Given the description of an element on the screen output the (x, y) to click on. 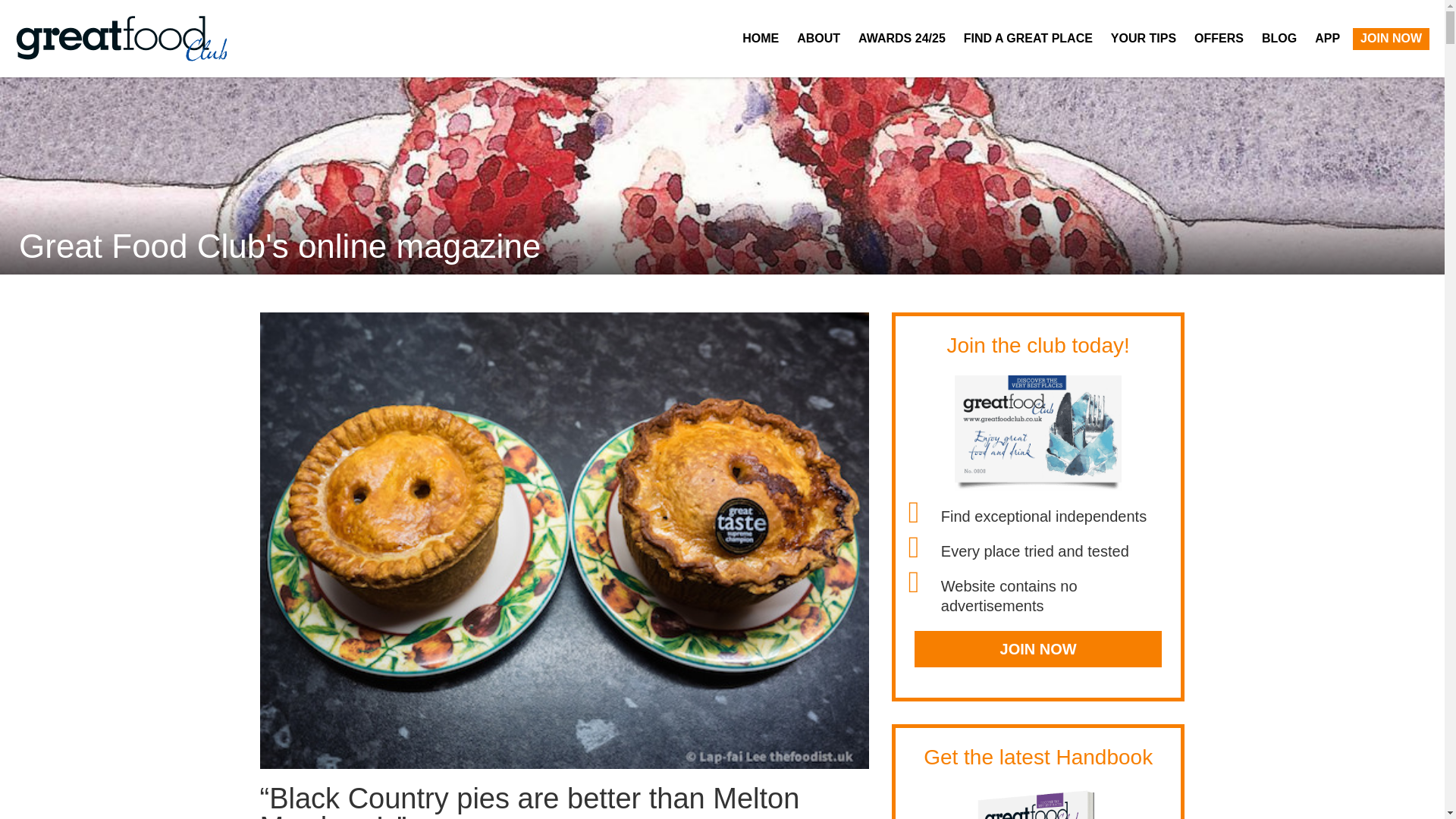
OFFERS (1218, 38)
YOUR TIPS (1143, 38)
APP (1327, 38)
HOME (760, 38)
Great Food Club (120, 38)
ABOUT (817, 38)
FIND A GREAT PLACE (1028, 38)
BLOG (1279, 38)
JOIN NOW (1390, 38)
JOIN NOW (1037, 648)
